Given the description of an element on the screen output the (x, y) to click on. 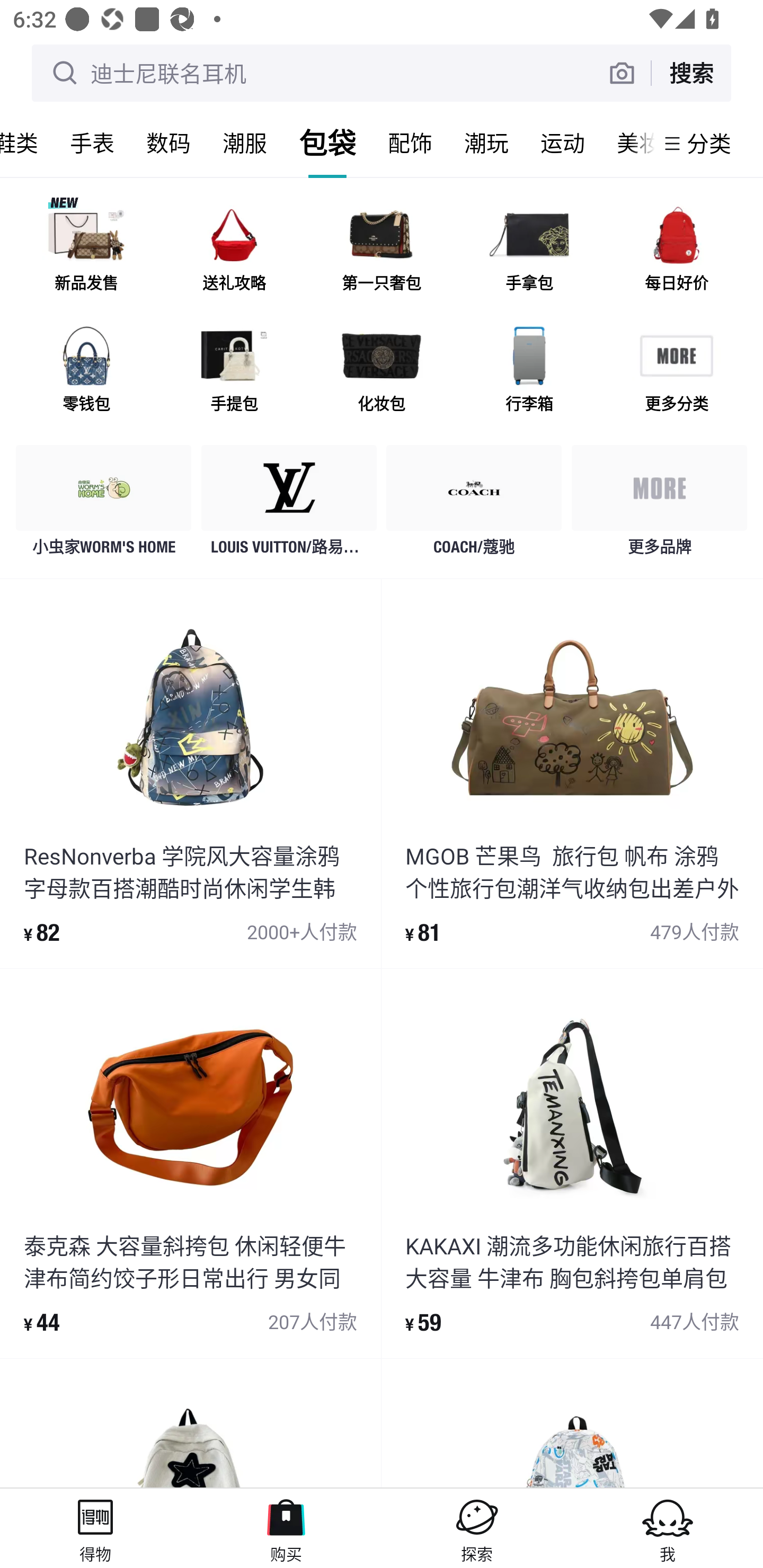
搜索 (690, 72)
鞋类 (27, 143)
手表 (92, 143)
数码 (168, 143)
潮服 (244, 143)
包袋 (327, 143)
配饰 (410, 143)
潮玩 (486, 143)
运动 (562, 143)
美妆 (627, 143)
分类 (708, 143)
新品发售 (86, 251)
送礼攻略 (233, 251)
第一只奢包 (381, 251)
手拿包 (528, 251)
每日好价 (676, 251)
零钱包 (86, 372)
手提包 (233, 372)
化妆包 (381, 372)
行李箱 (528, 372)
更多分类 (676, 372)
小虫家WORM'S HOME (103, 505)
LOUIS VUITTON/路易威登 (288, 505)
COACH/蔻驰 (473, 505)
更多品牌 (658, 505)
得物 (95, 1528)
购买 (285, 1528)
探索 (476, 1528)
我 (667, 1528)
